Given the description of an element on the screen output the (x, y) to click on. 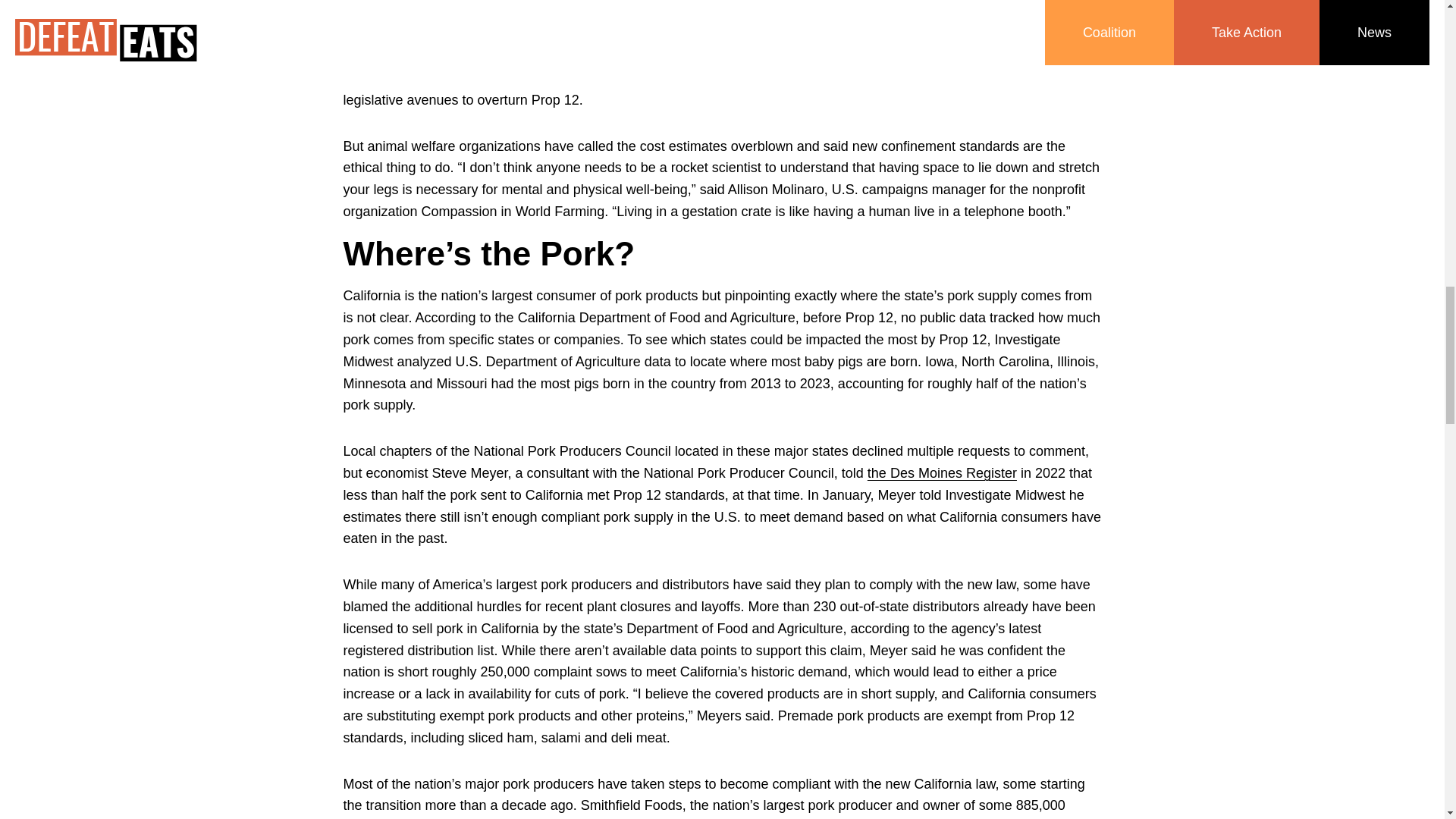
the Des Moines Register (941, 473)
